Given the description of an element on the screen output the (x, y) to click on. 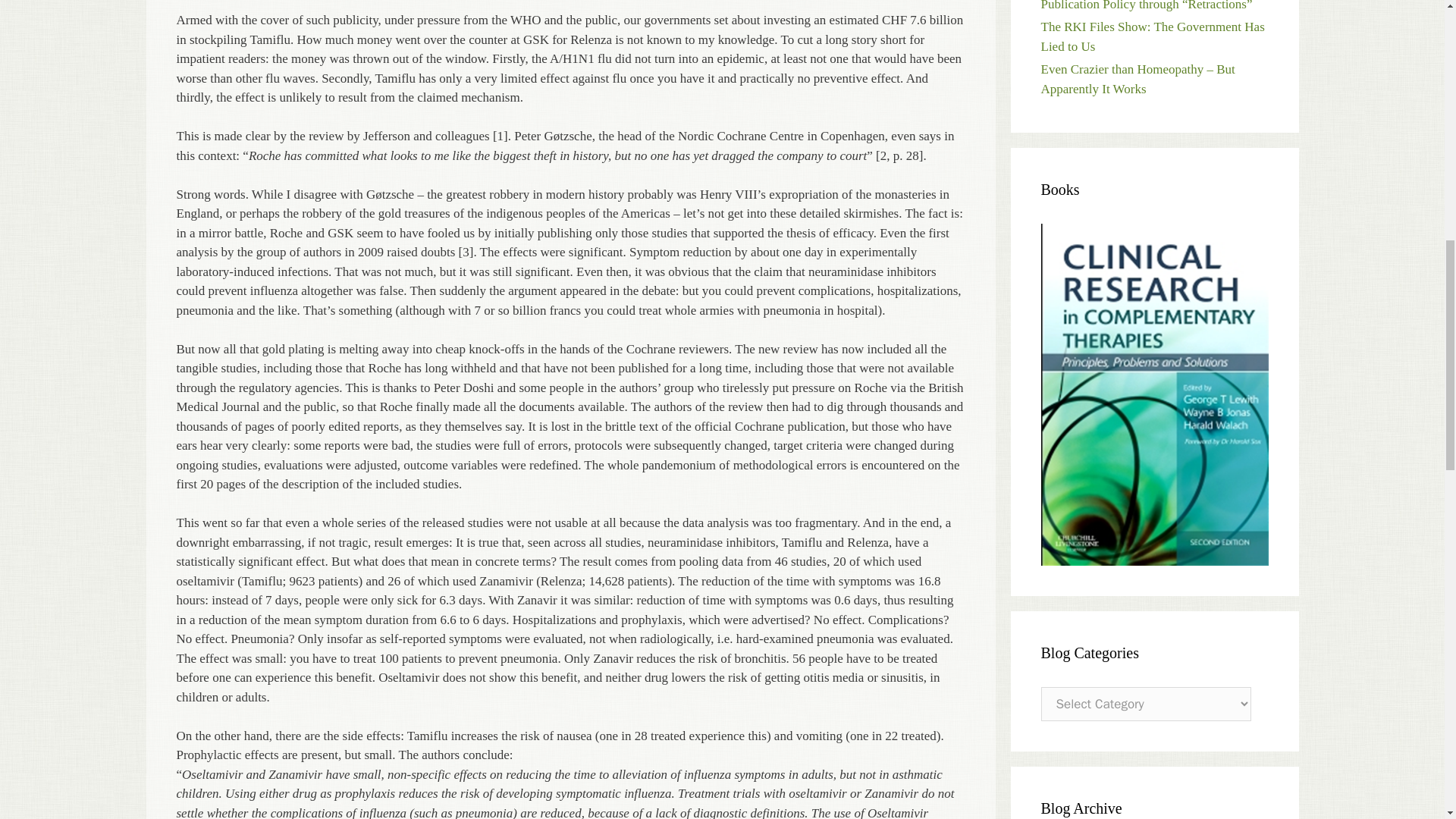
Scroll back to top (1406, 720)
The RKI Files Show: The Government Has Lied to Us (1152, 36)
